Given the description of an element on the screen output the (x, y) to click on. 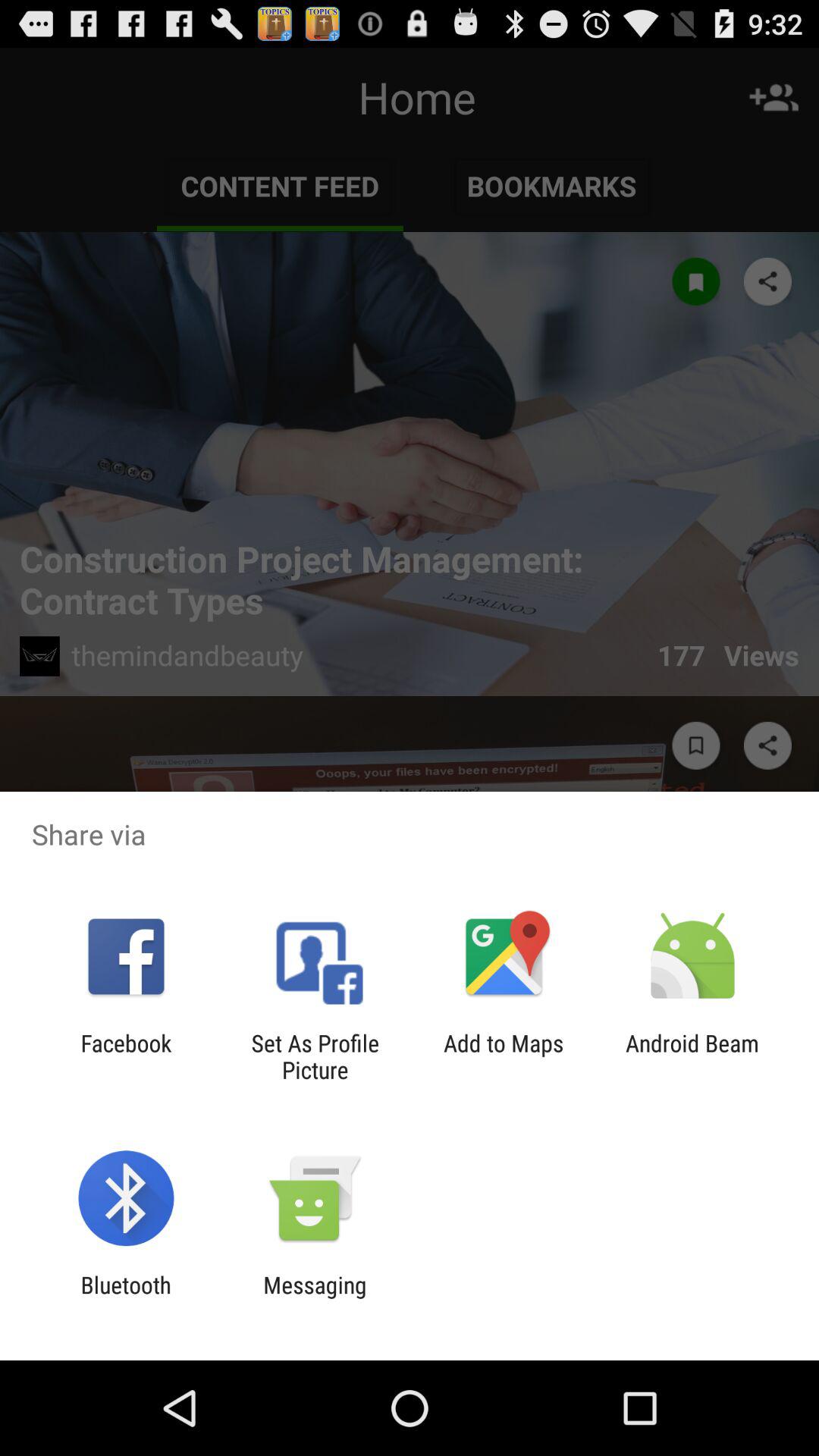
choose the icon next to the bluetooth icon (314, 1298)
